Given the description of an element on the screen output the (x, y) to click on. 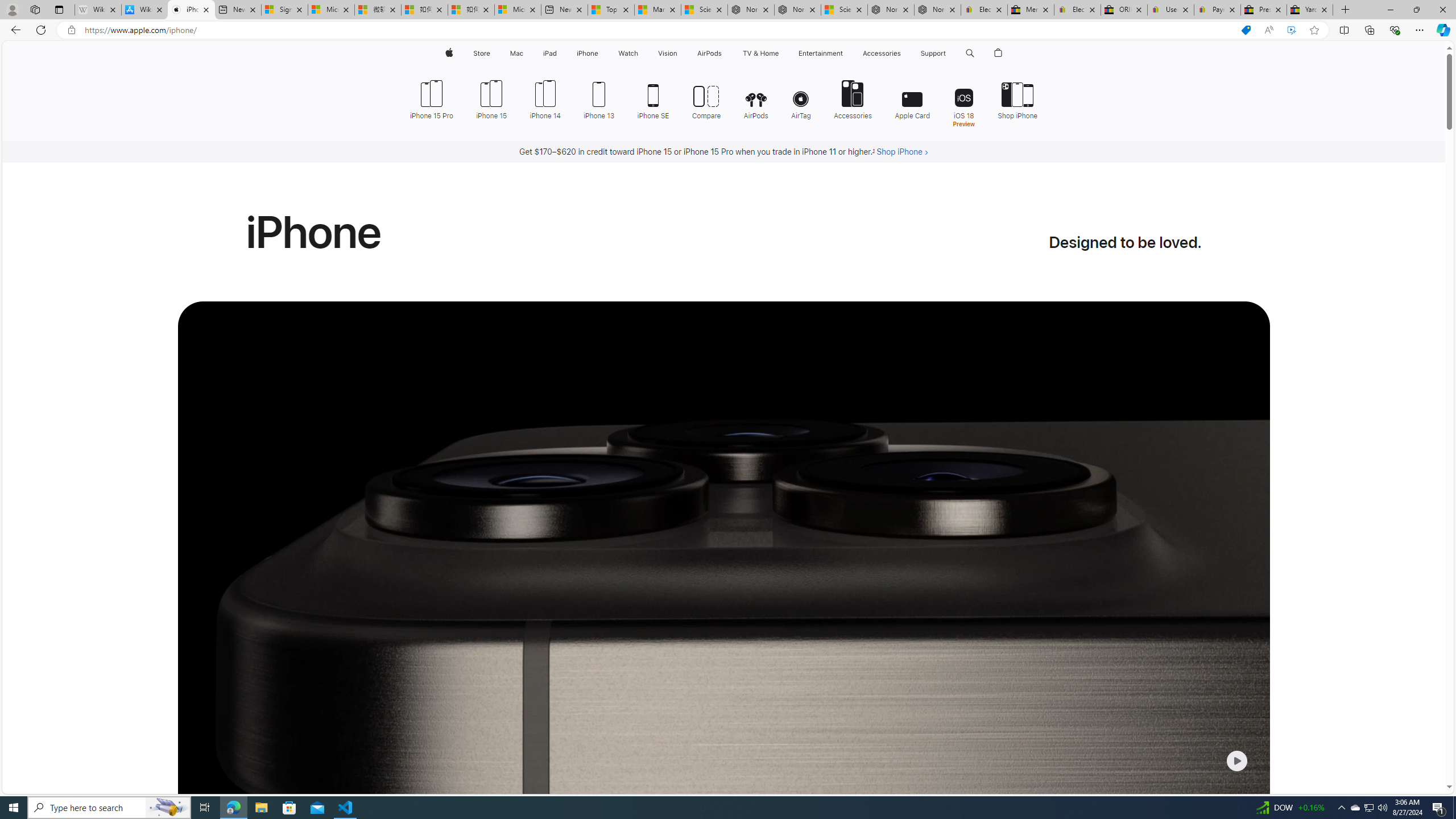
Payments Terms of Use | eBay.com (1216, 9)
Shop iPhone (1017, 98)
Apple (448, 53)
iPhone menu (600, 53)
iPhone 15 Pro (435, 98)
Vision (667, 53)
Nordace - FAQ (937, 9)
Class: globalnav-submenu-trigger-item (948, 53)
Accessories (852, 98)
